Given the description of an element on the screen output the (x, y) to click on. 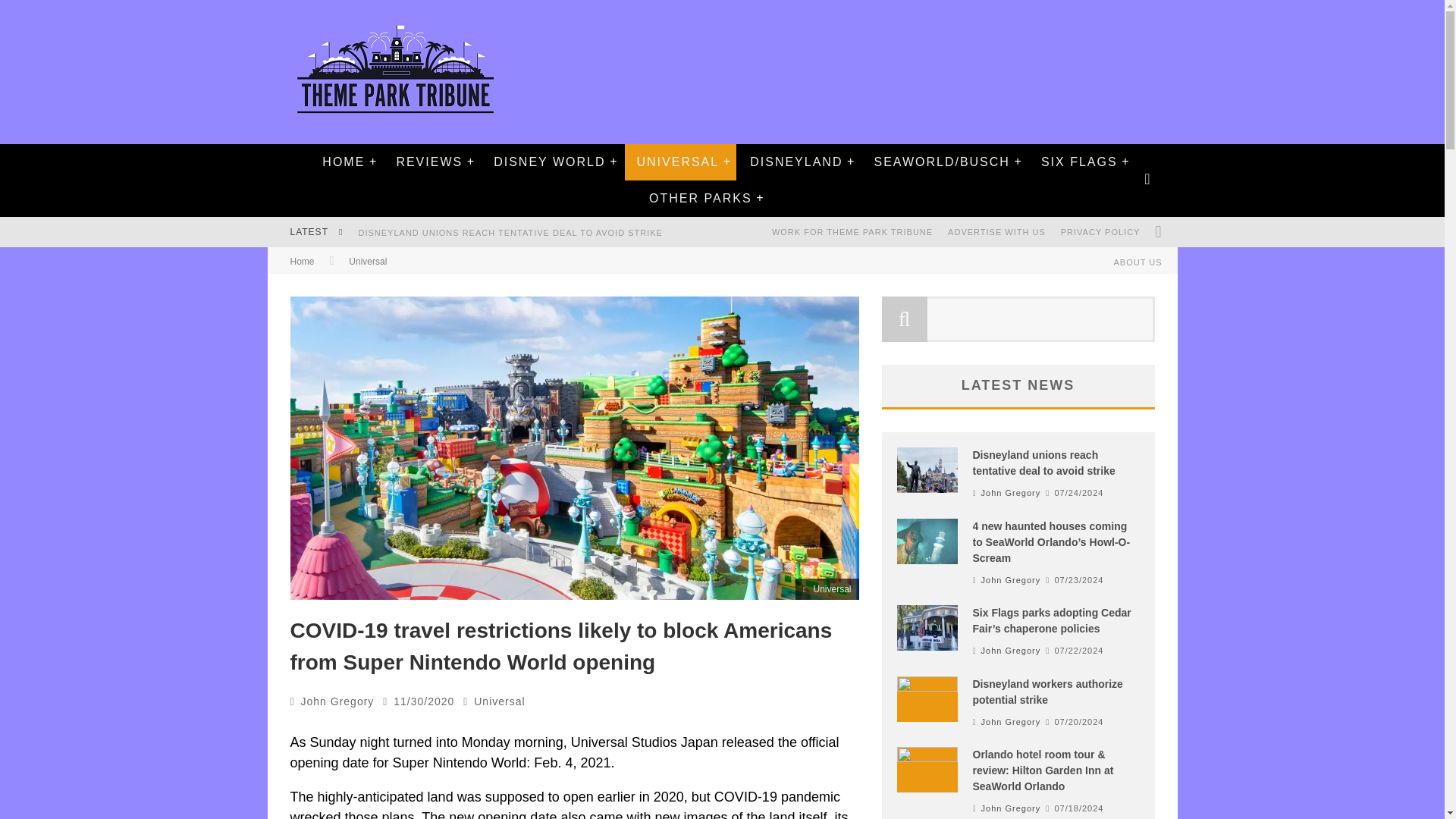
SIX FLAGS (1079, 162)
John Gregory (337, 701)
View all posts in Universal (499, 701)
Universal (368, 261)
Disneyland unions reach tentative deal to avoid strike (510, 232)
REVIEWS (429, 162)
SeaWorld Orlando (940, 162)
ABOUT US (1137, 262)
UNIVERSAL (677, 162)
ADVERTISE WITH US (996, 232)
OTHER PARKS (699, 198)
Home (301, 261)
Universal (499, 701)
DISNEYLAND UNIONS REACH TENTATIVE DEAL TO AVOID STRIKE (510, 232)
DISNEYLAND (795, 162)
